Given the description of an element on the screen output the (x, y) to click on. 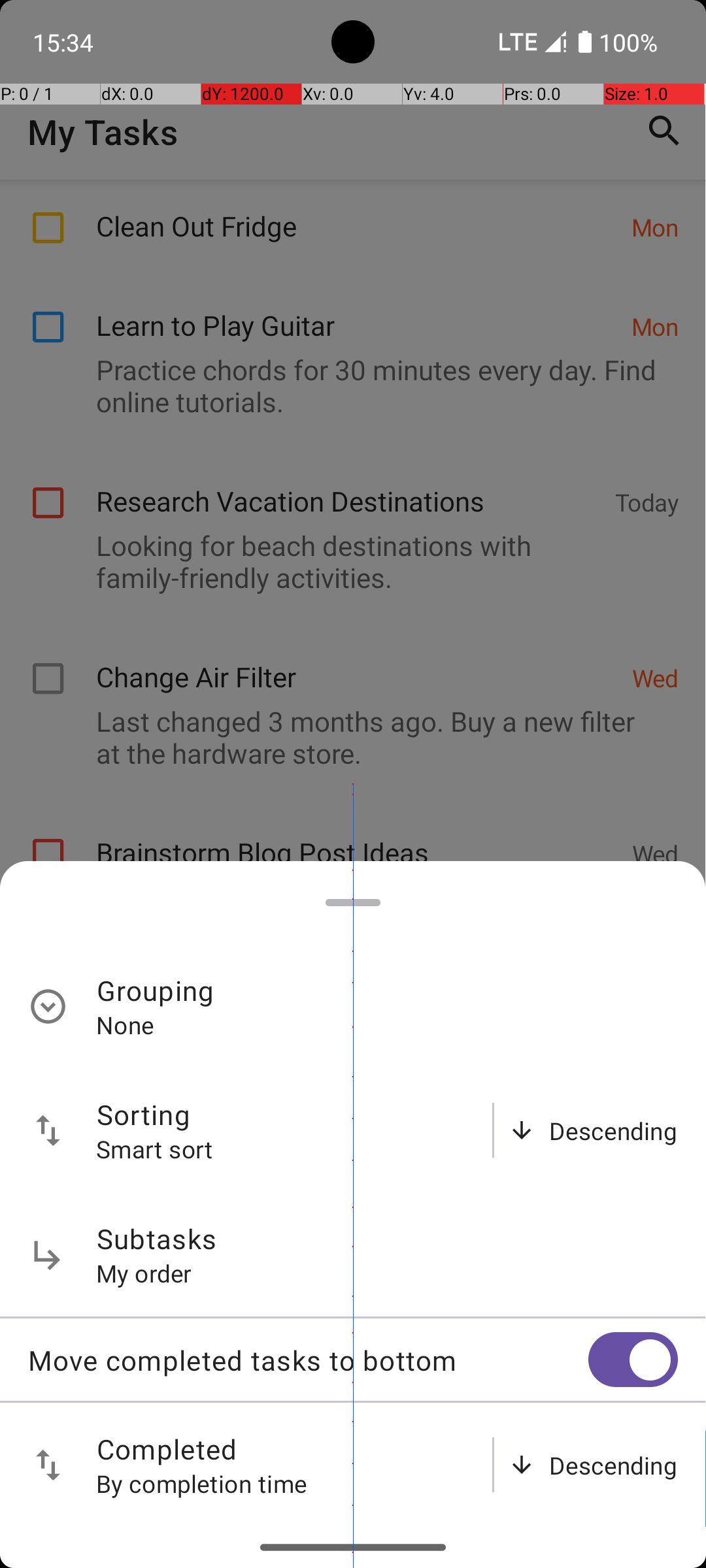
Grouping Element type: android.widget.TextView (155, 989)
Sorting Element type: android.widget.TextView (143, 1113)
Smart sort Element type: android.widget.TextView (154, 1148)
Subtasks Element type: android.widget.TextView (156, 1238)
My order Element type: android.widget.TextView (144, 1273)
Move completed tasks to bottom Element type: android.widget.TextView (307, 1359)
Completed Element type: android.widget.TextView (166, 1448)
By completion time Element type: android.widget.TextView (201, 1483)
Descending Element type: android.widget.TextView (613, 1130)
